Given the description of an element on the screen output the (x, y) to click on. 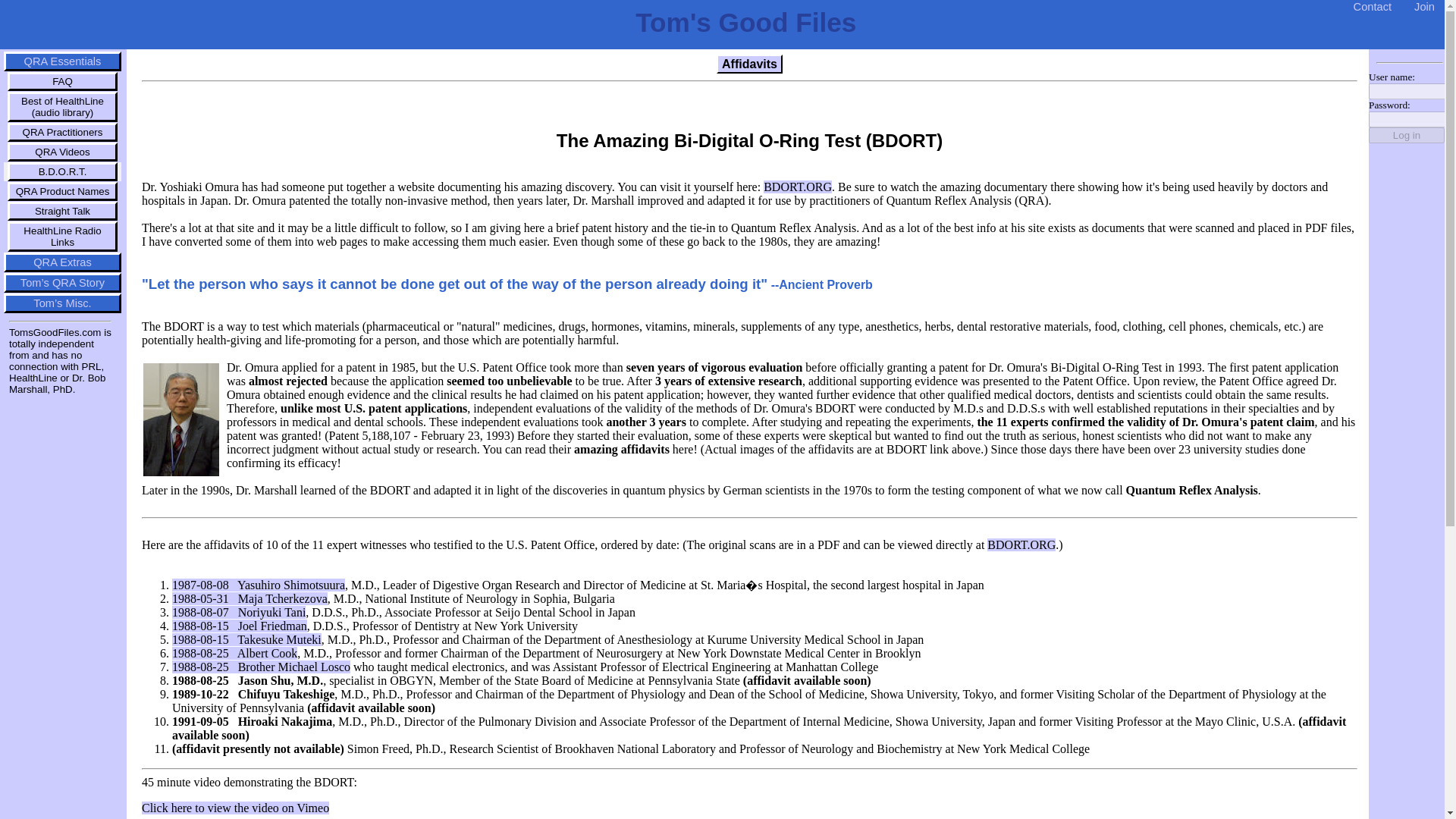
QRA Extras (62, 261)
QRA Essentials (62, 61)
QRA Product Names (62, 190)
Straight Talk (62, 210)
QRA Practitioners (62, 131)
HealthLine Radio Links (62, 236)
Tom's Good Files (745, 21)
FAQ (62, 81)
B.D.O.R.T. (62, 171)
Back to the Home Page (745, 21)
